Given the description of an element on the screen output the (x, y) to click on. 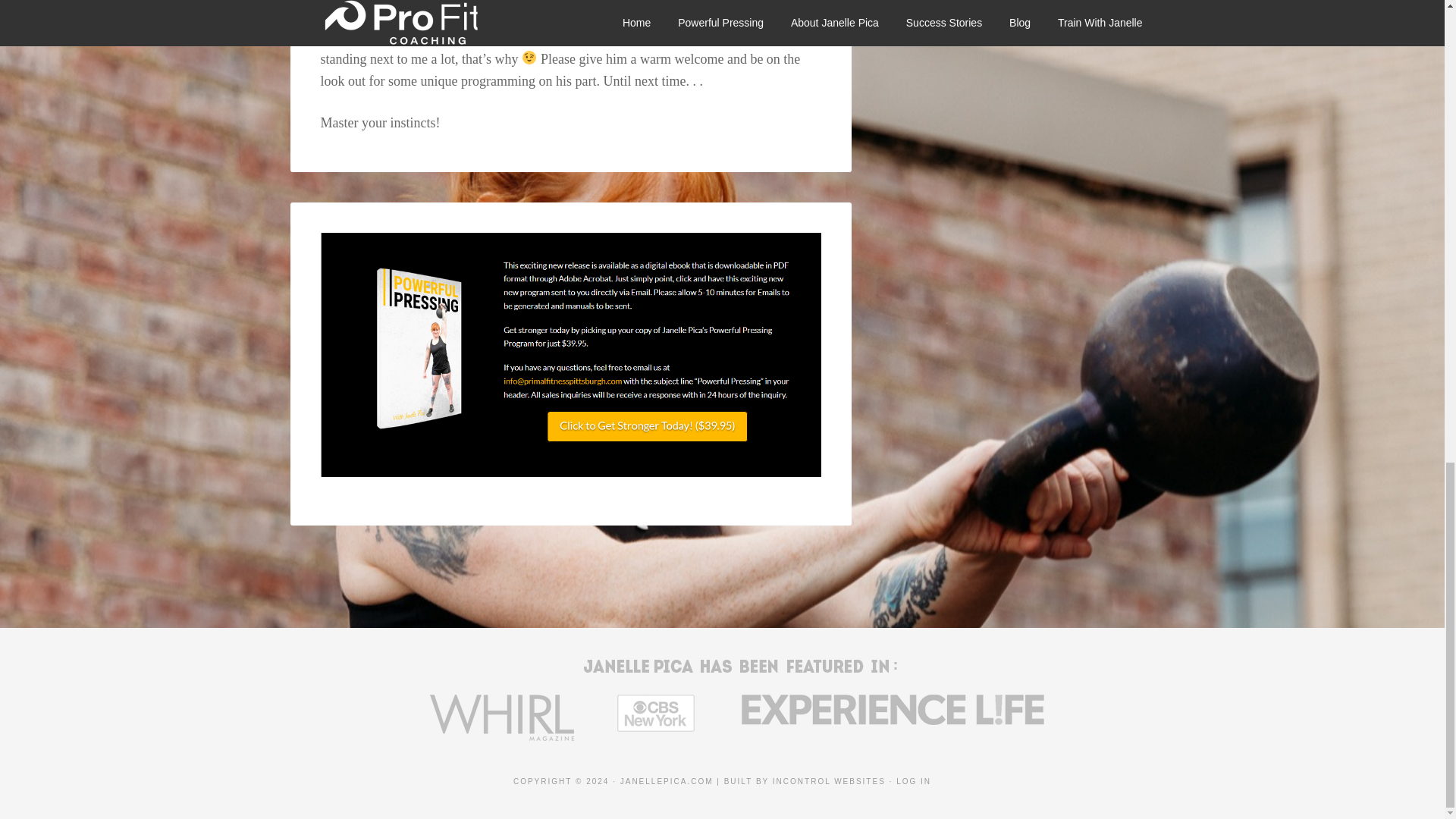
LOG IN (913, 781)
INCONTROL WEBSITES (829, 781)
JANELLEPICA.COM (666, 781)
